Given the description of an element on the screen output the (x, y) to click on. 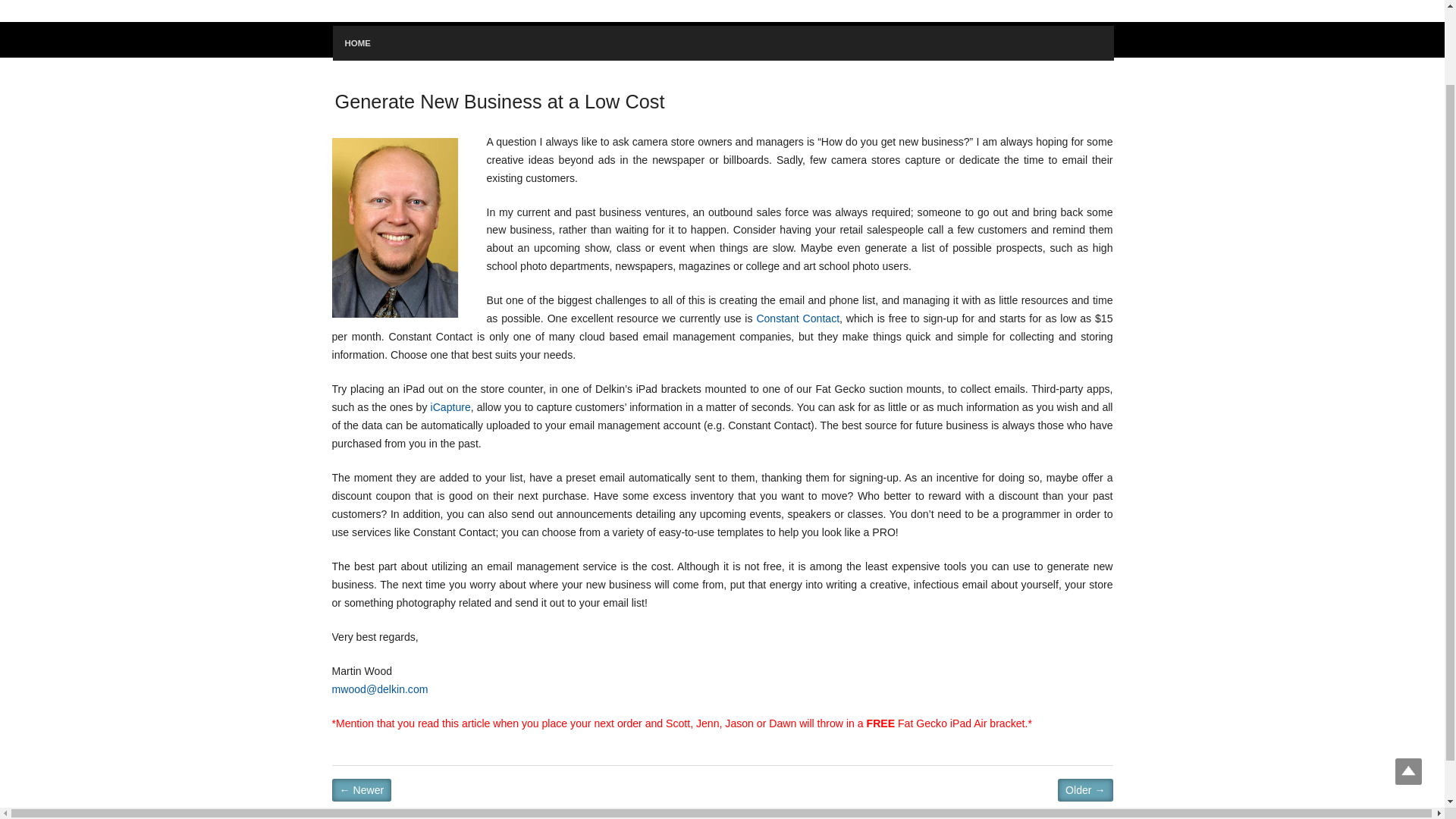
HOME (356, 42)
Top (1408, 682)
Scroll to Top (1408, 682)
iCapture (450, 407)
Constant Contact (797, 318)
